Given the description of an element on the screen output the (x, y) to click on. 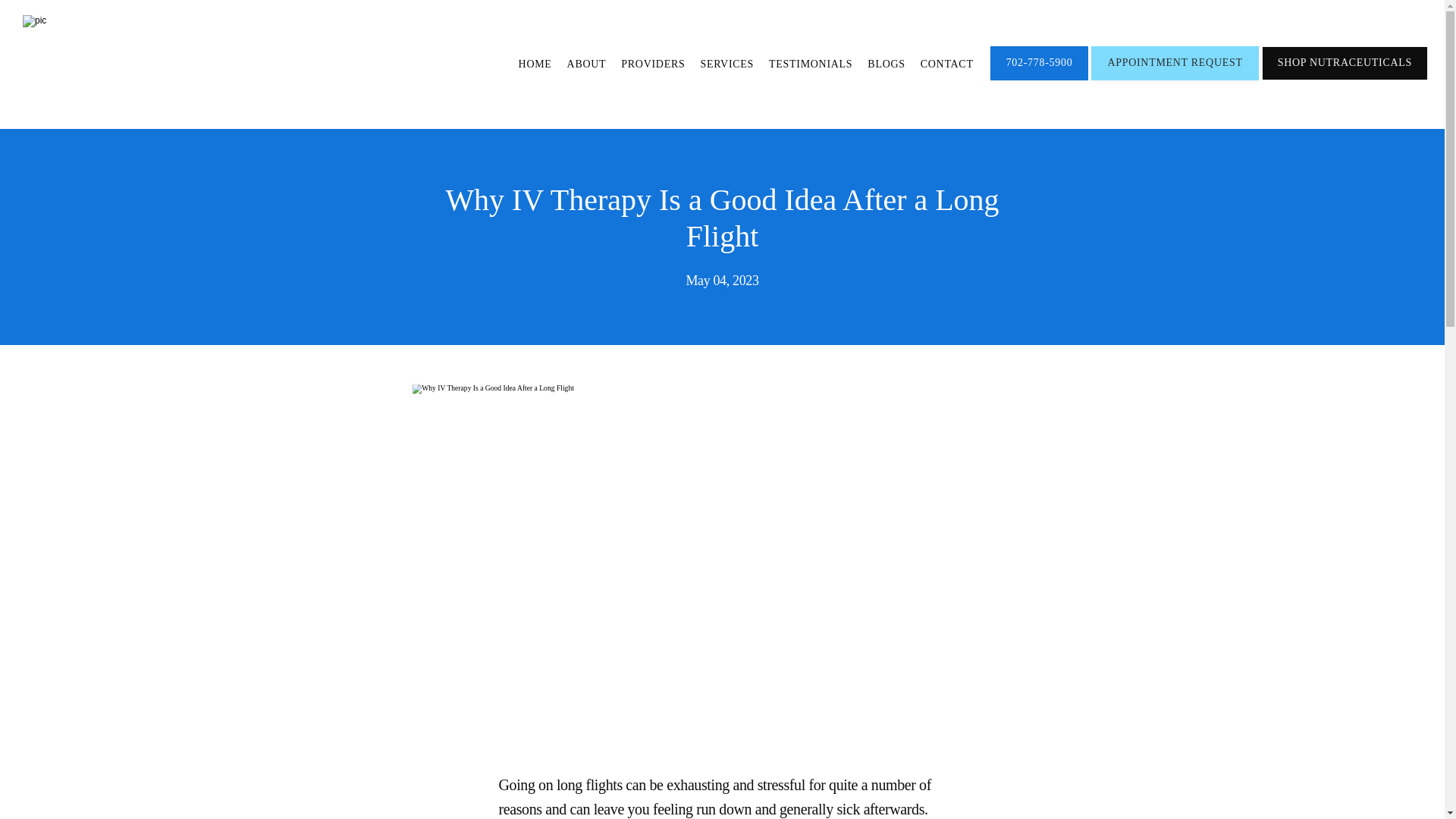
BLOGS (885, 63)
702-778-5900 (1039, 78)
SERVICES (727, 63)
CONTACT (947, 63)
APPOINTMENT REQUEST (1174, 78)
TESTIMONIALS (809, 63)
PROVIDERS (652, 63)
SHOP NUTRACEUTICALS (1344, 78)
ABOUT (587, 63)
HOME (534, 63)
